Given the description of an element on the screen output the (x, y) to click on. 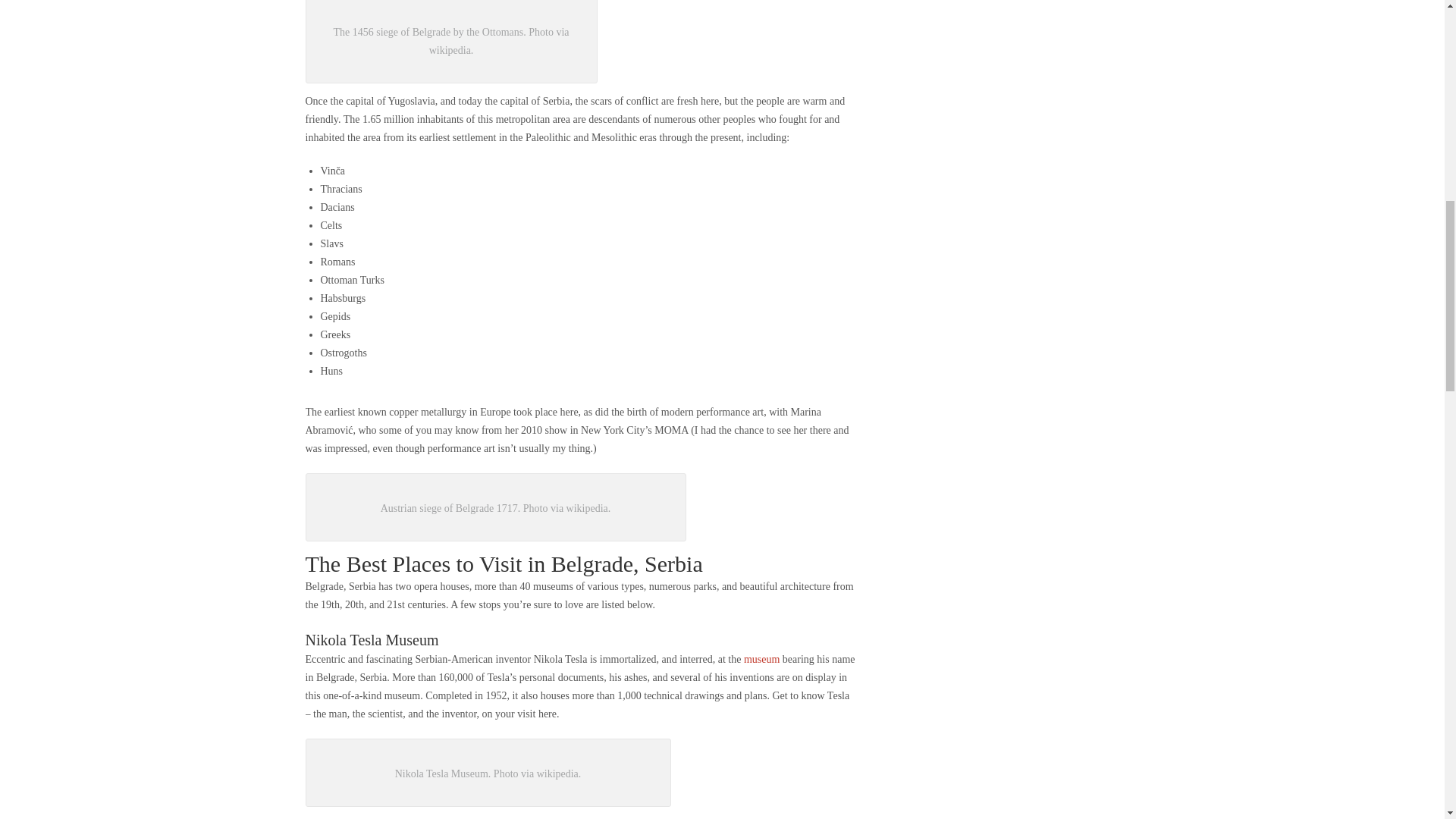
Tesla Museum (761, 659)
museum (761, 659)
